Given the description of an element on the screen output the (x, y) to click on. 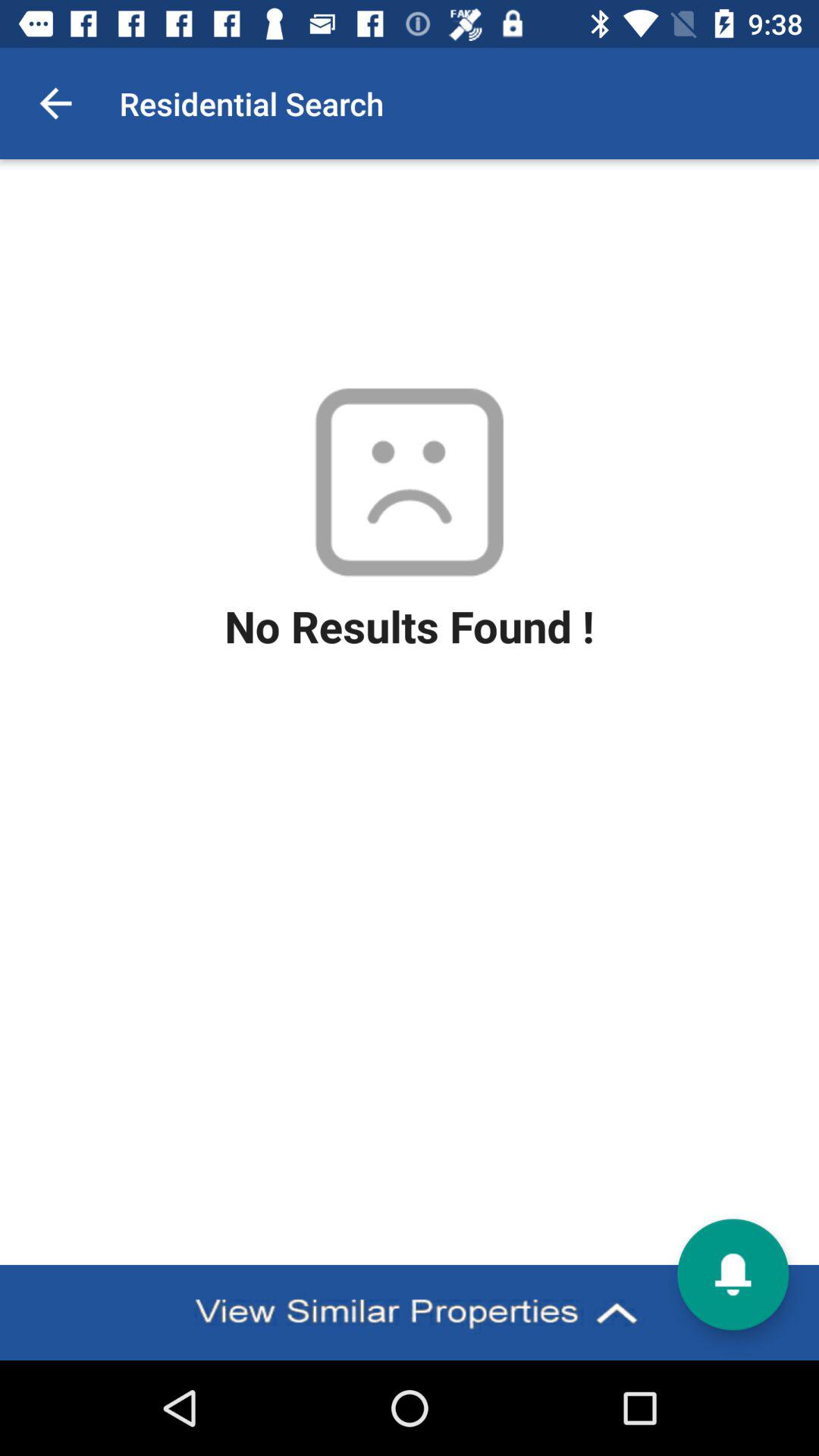
select notification option (732, 1274)
